Given the description of an element on the screen output the (x, y) to click on. 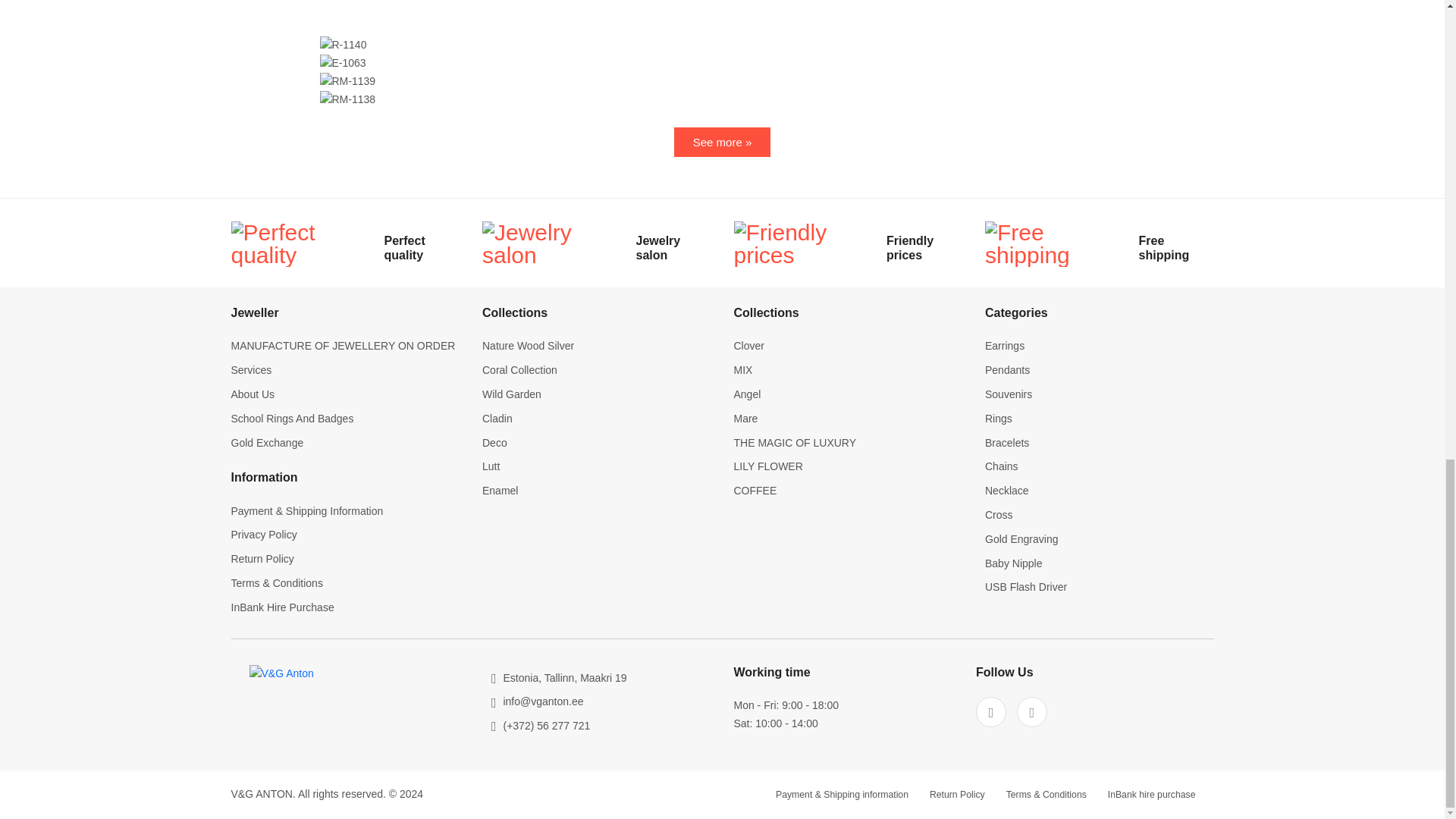
	R-1140 (343, 45)
	E-1063 (343, 63)
RM-1138 (347, 99)
RM-1139 (347, 81)
